Given the description of an element on the screen output the (x, y) to click on. 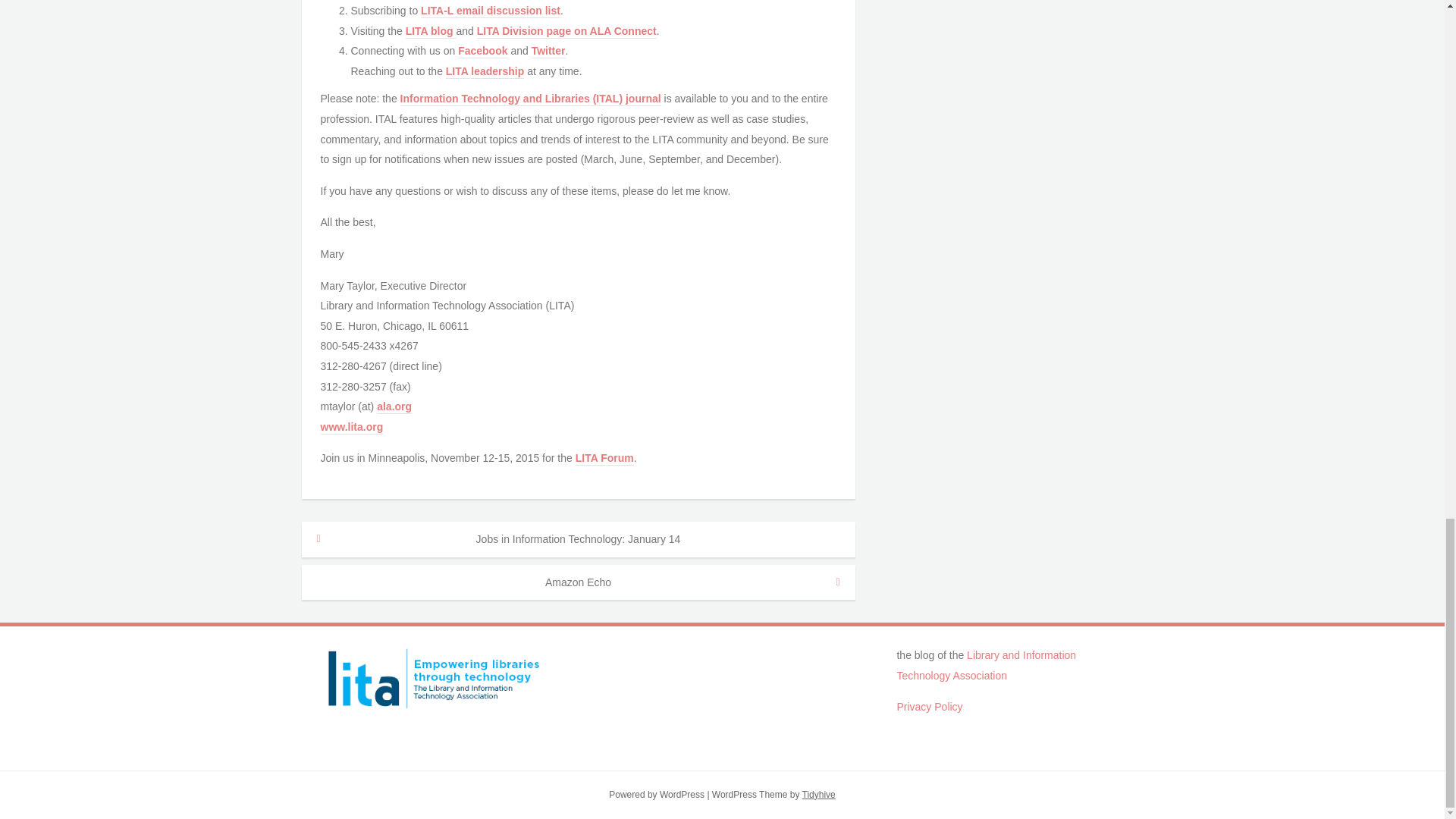
Privacy Policy (929, 706)
Amazon Echo (578, 582)
LITA leadership (484, 71)
www.lita.org (351, 427)
Tidyhive (818, 794)
Library and Information Technology Association (985, 665)
LITA Division page on ALA Connect (566, 31)
LITA blog (431, 31)
Facebook (482, 51)
LITA-L email discussion list (490, 11)
ala.org (394, 407)
Twitter (548, 51)
LITA Forum (604, 459)
Jobs in Information Technology: January 14 (578, 539)
